Given the description of an element on the screen output the (x, y) to click on. 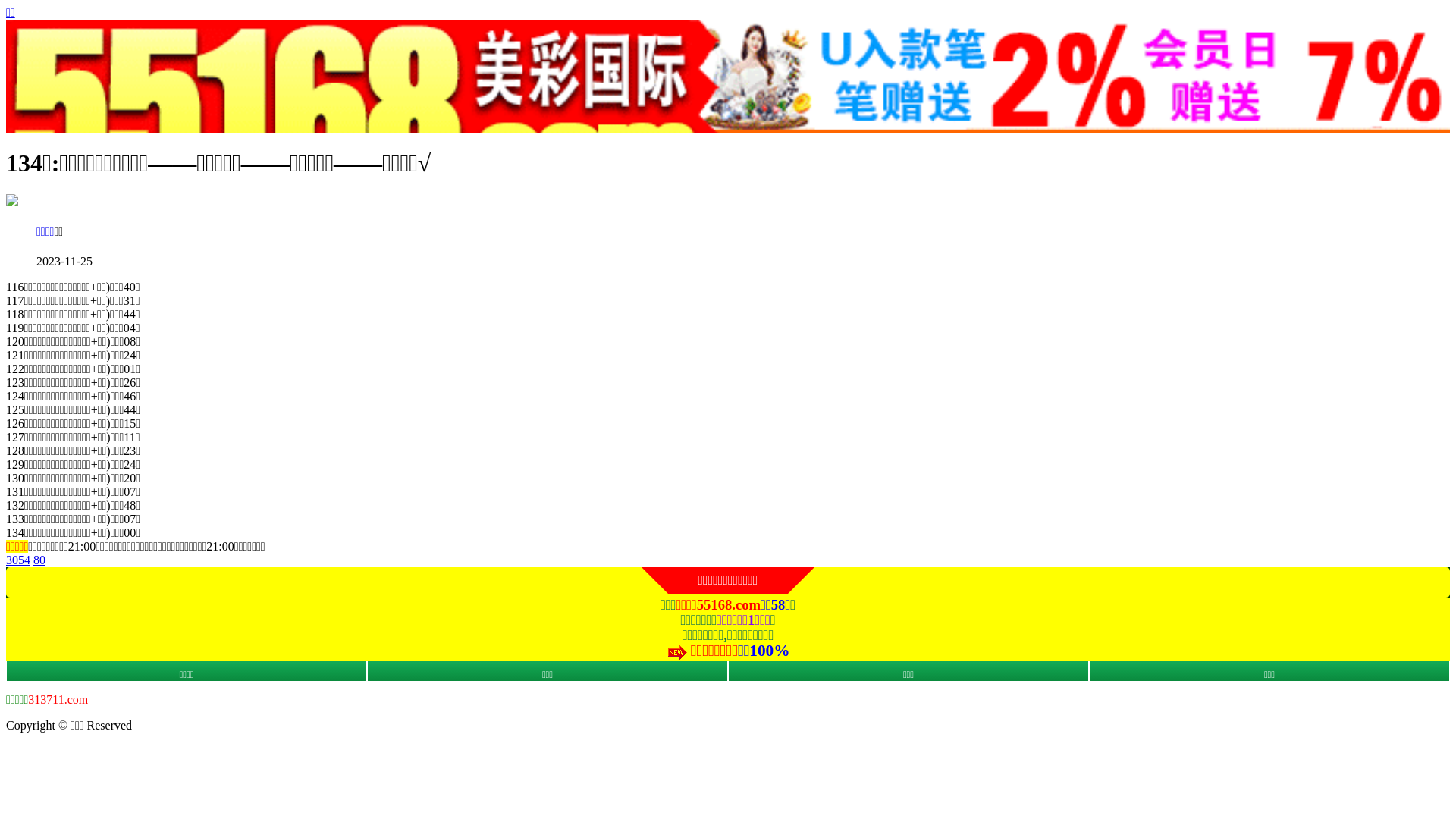
80 Element type: text (39, 559)
3054 Element type: text (18, 559)
